Given the description of an element on the screen output the (x, y) to click on. 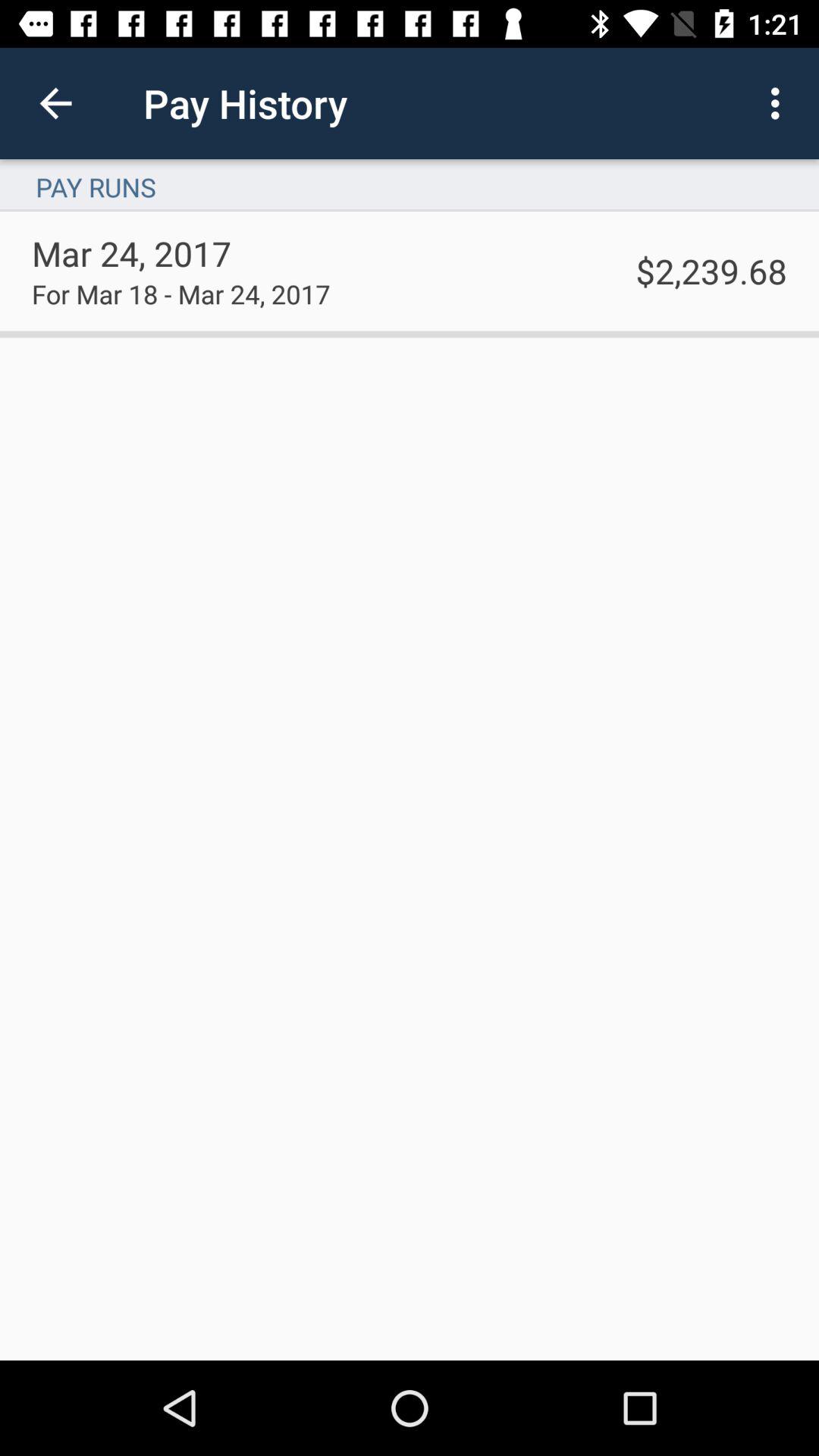
choose the icon above pay runs item (779, 103)
